Given the description of an element on the screen output the (x, y) to click on. 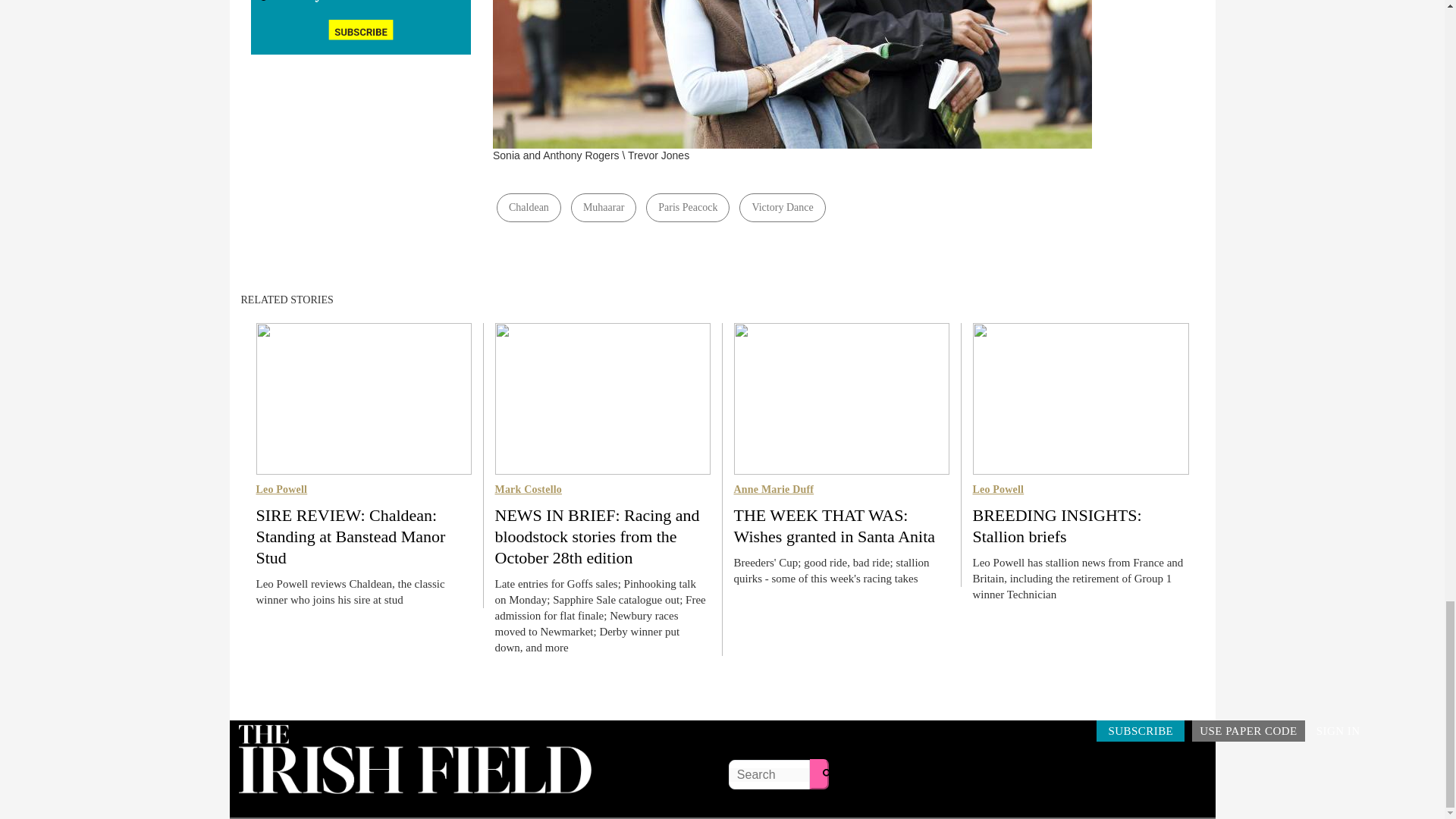
search (827, 773)
